Given the description of an element on the screen output the (x, y) to click on. 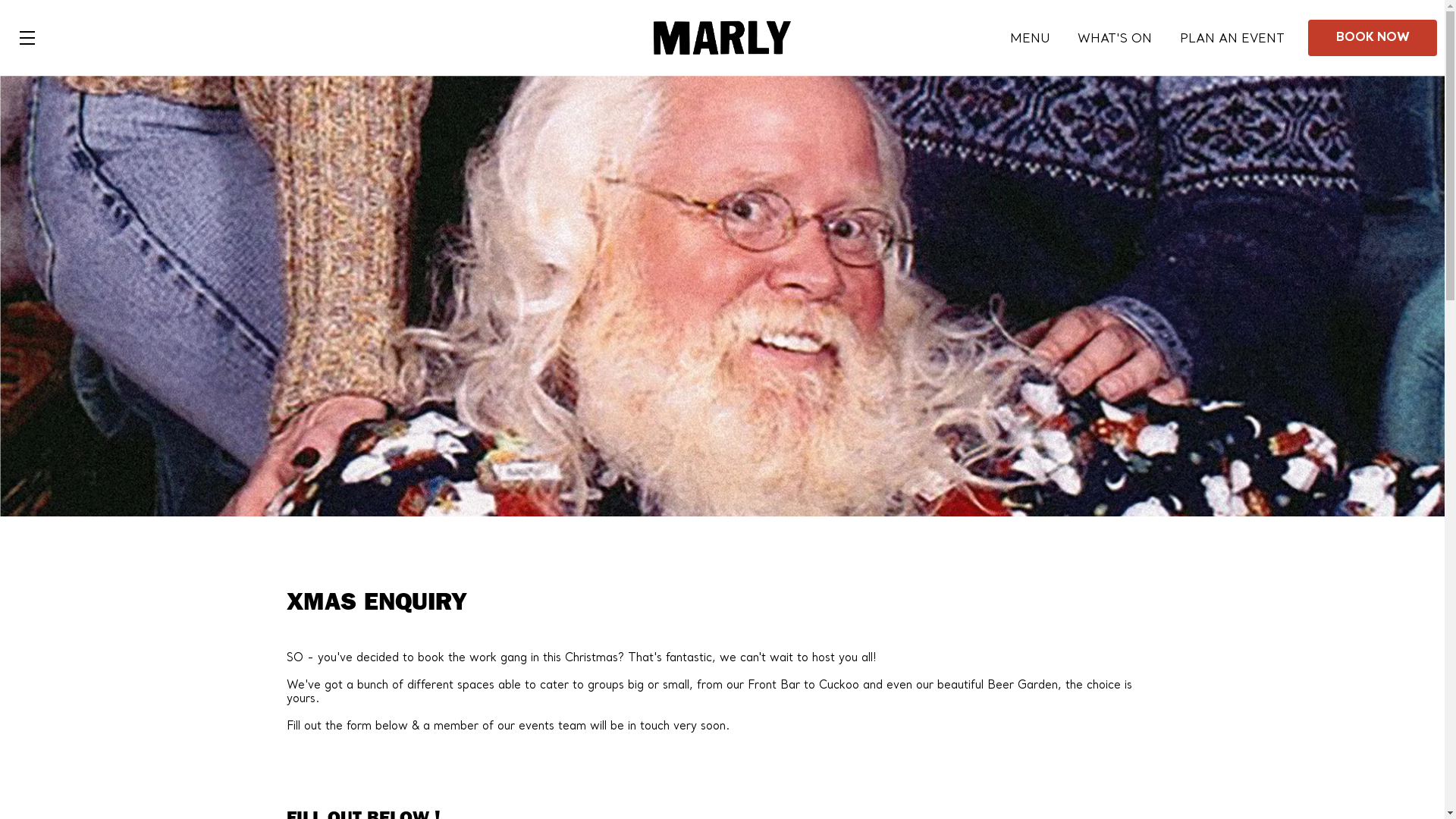
MENU Element type: text (1029, 39)
PLAN AN EVENT Element type: text (1231, 39)
BOOK NOW Element type: text (1372, 37)
WHAT'S ON Element type: text (1114, 39)
